Given the description of an element on the screen output the (x, y) to click on. 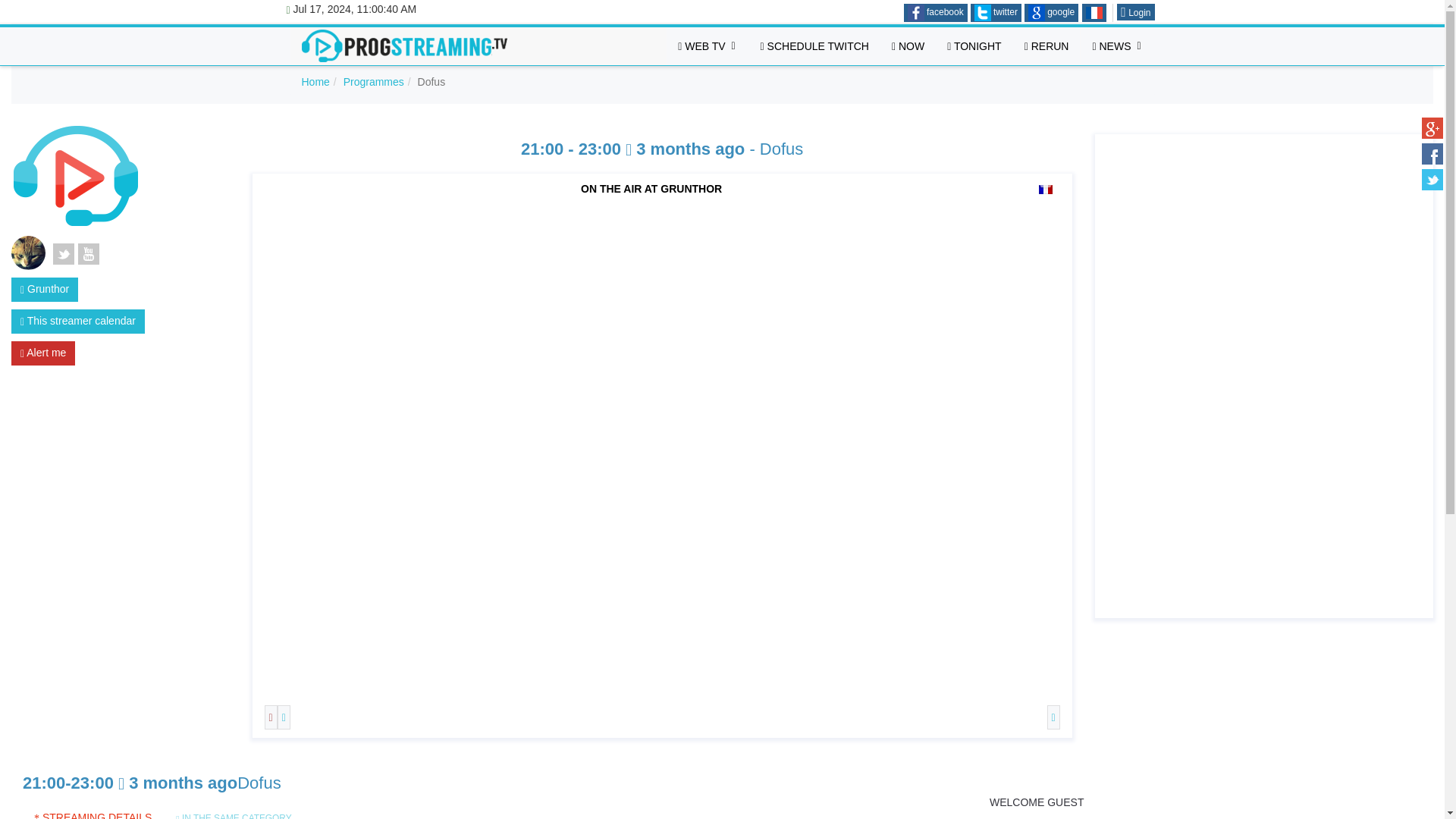
Login with Google (1036, 12)
facebook (936, 13)
Login with social account (996, 13)
google (1051, 13)
twitter (996, 13)
Login (1135, 12)
Login with Twitter (982, 12)
Login with social account (1051, 13)
 WEB TV (707, 46)
Login with social account (936, 13)
Login with Facebook (915, 12)
